Given the description of an element on the screen output the (x, y) to click on. 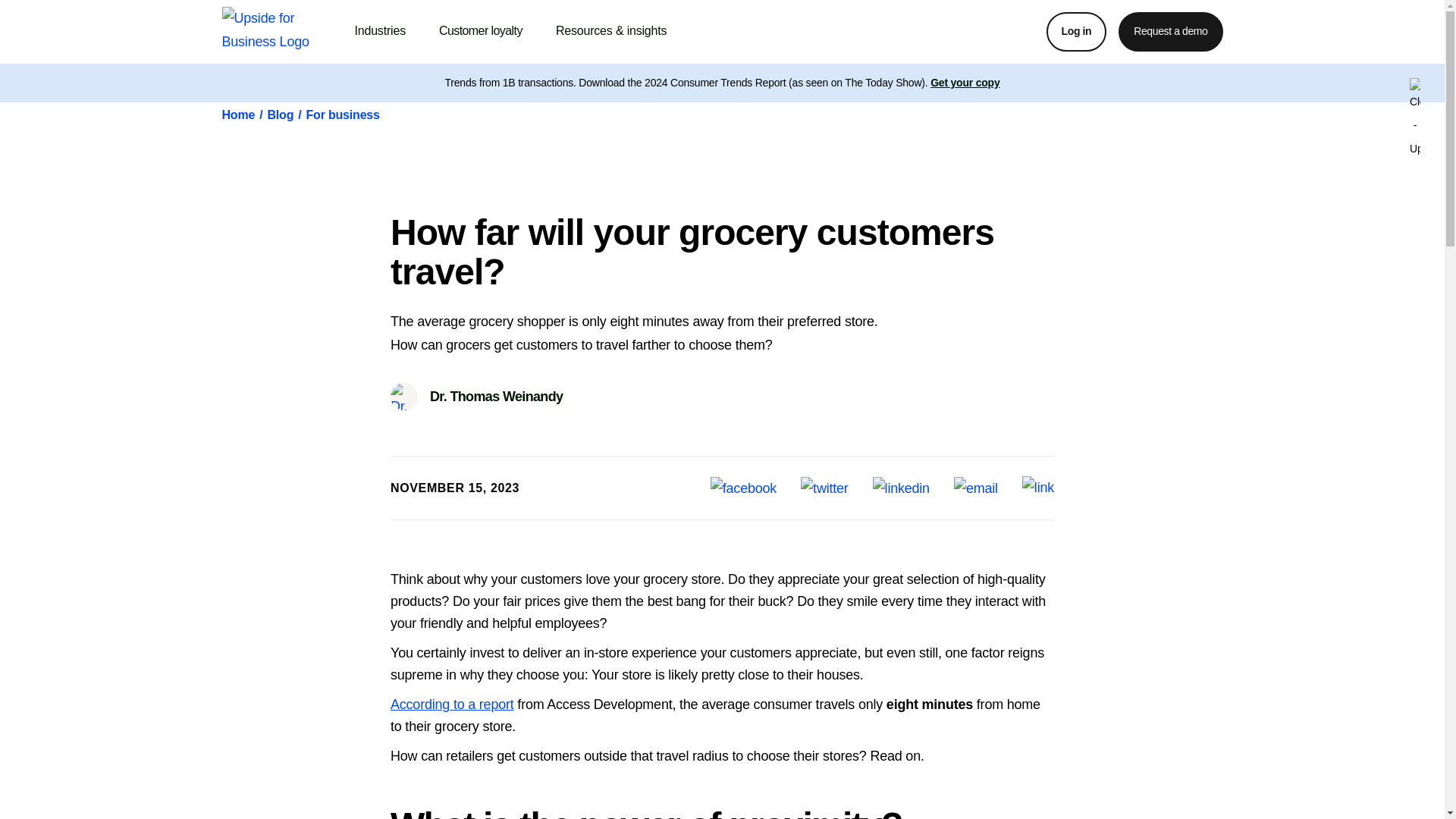
Share on Facebook (743, 487)
Log in (1076, 31)
Dr. Thomas Weinandy (476, 396)
Request a demo (1170, 31)
Copy Link (1038, 487)
Tweet (824, 487)
Share on LinkedIn (901, 487)
Customer loyalty (481, 31)
Get your copy (964, 82)
Home (237, 115)
